Given the description of an element on the screen output the (x, y) to click on. 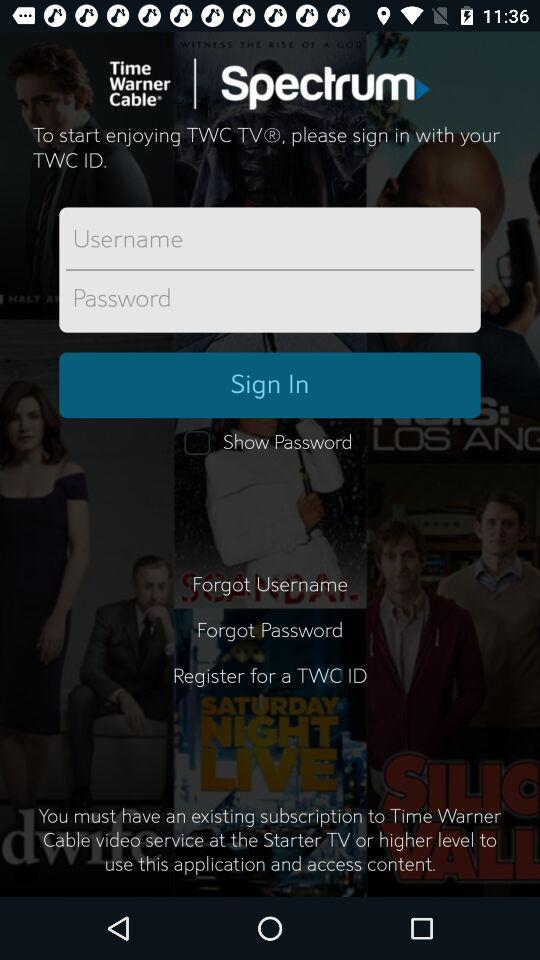
enter in password (270, 299)
